Given the description of an element on the screen output the (x, y) to click on. 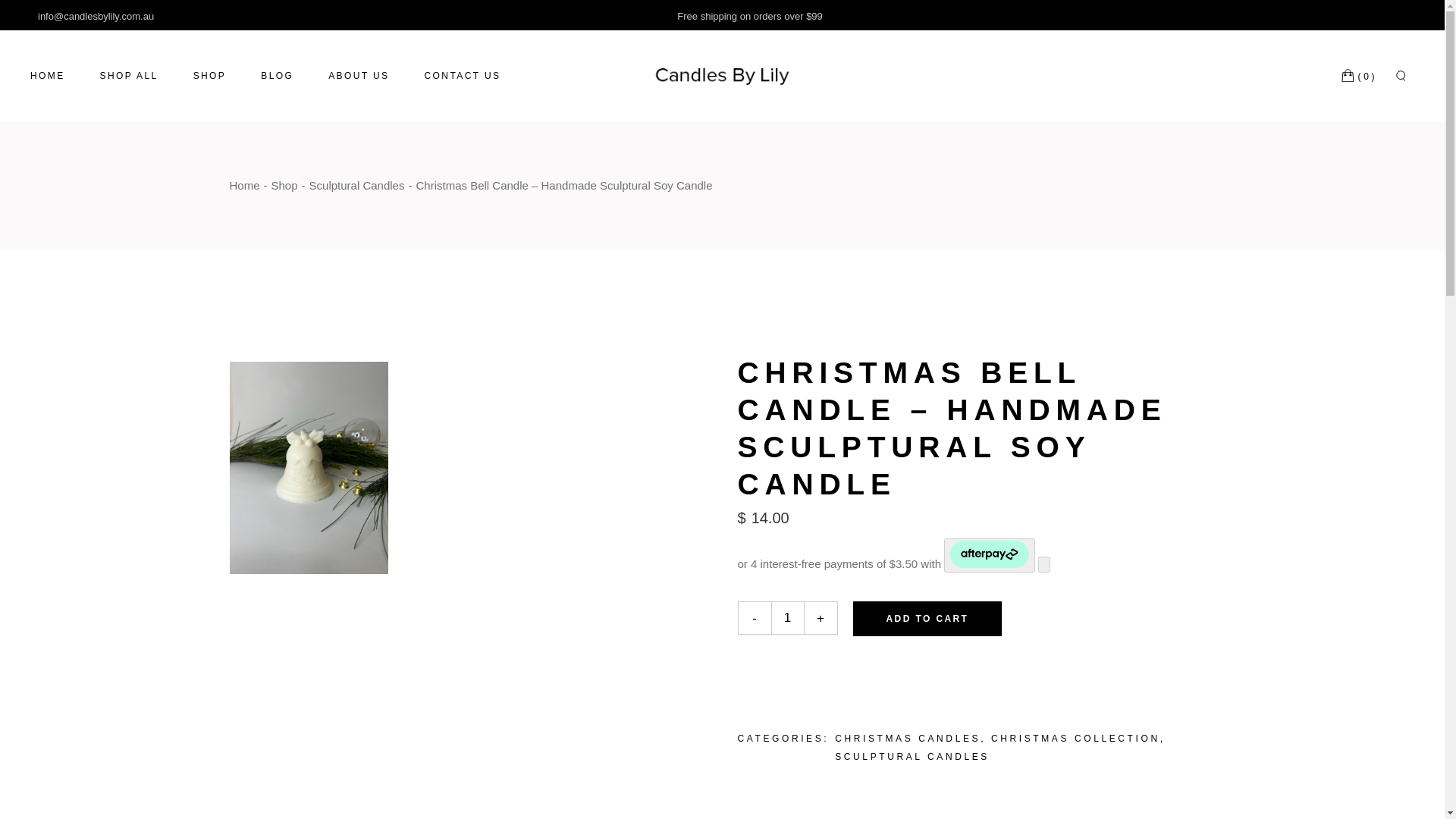
HOME (47, 75)
SHOP (210, 75)
CHRISTMAS COLLECTION (1075, 738)
CONTACT US (462, 75)
Shop (284, 185)
YHFS6739 (308, 467)
SHOP ALL (129, 75)
ADD TO CART (926, 618)
Qty (786, 617)
Sculptural Candles (356, 185)
CHRISTMAS CANDLES (906, 738)
Home (243, 185)
1 (786, 617)
PayPal (975, 667)
ABOUT US (358, 75)
